Given the description of an element on the screen output the (x, y) to click on. 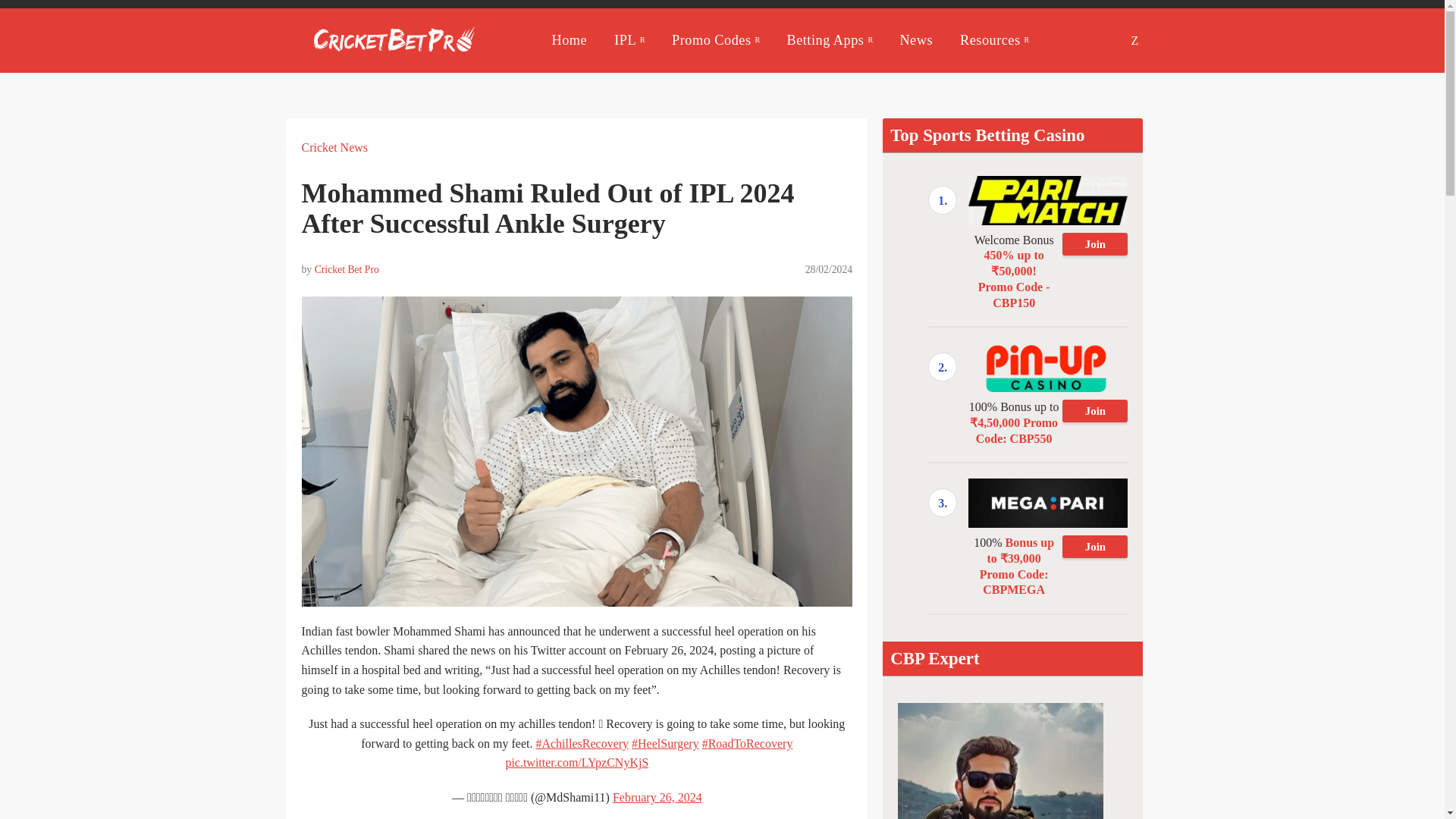
Resources (994, 39)
Betting Apps (829, 39)
Home (569, 39)
Promo Codes (714, 39)
